Given the description of an element on the screen output the (x, y) to click on. 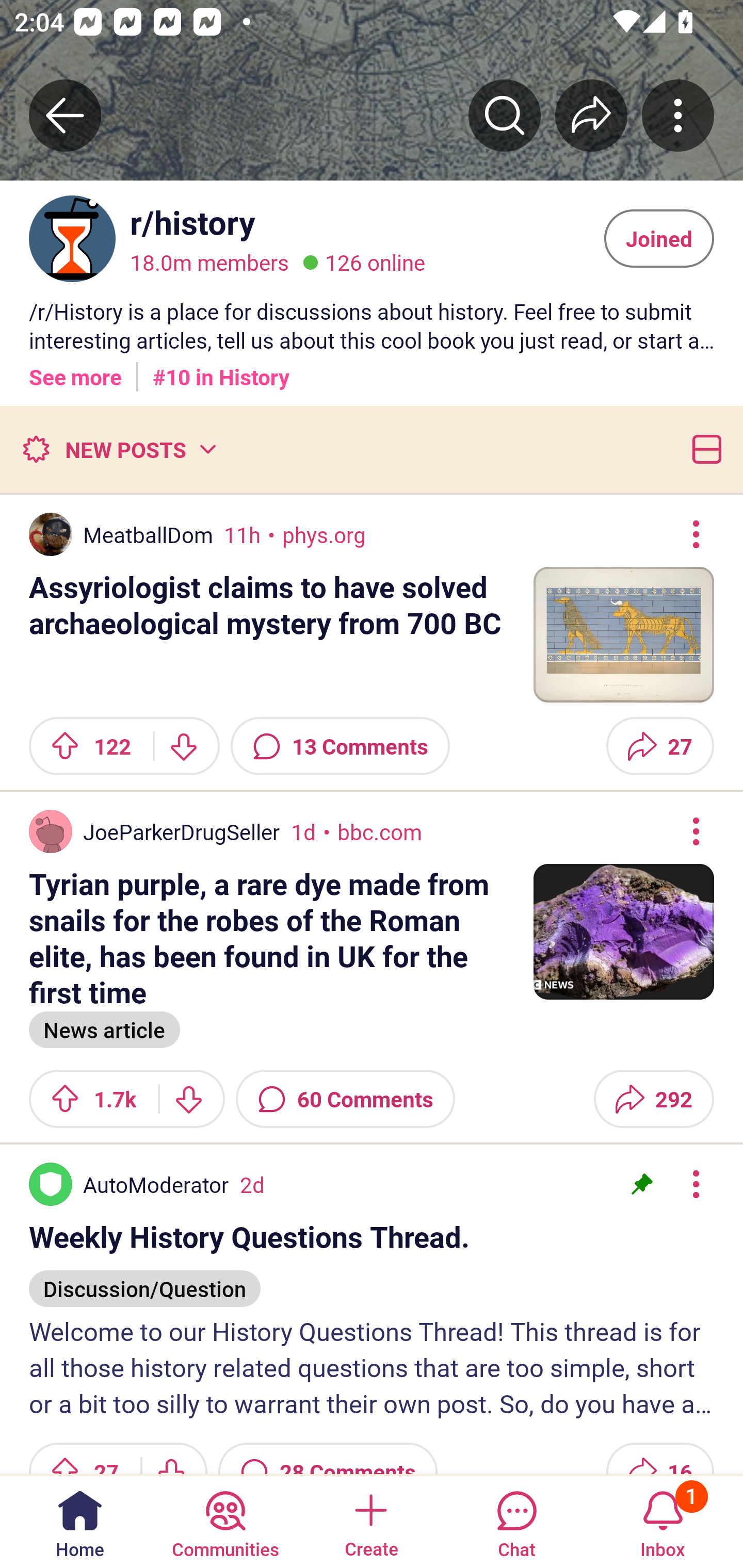
Back (64, 115)
Search r/﻿history (504, 115)
Share r/﻿history (591, 115)
More community actions (677, 115)
See more (74, 369)
#10 in History (221, 369)
New posts NEW POSTS (118, 449)
Card (703, 449)
News article (103, 1027)
Discussion/Question (144, 1278)
Home (80, 1520)
Communities (225, 1520)
Create a post Create (370, 1520)
Chat (516, 1520)
Inbox, has 1 notification 1 Inbox (662, 1520)
